Given the description of an element on the screen output the (x, y) to click on. 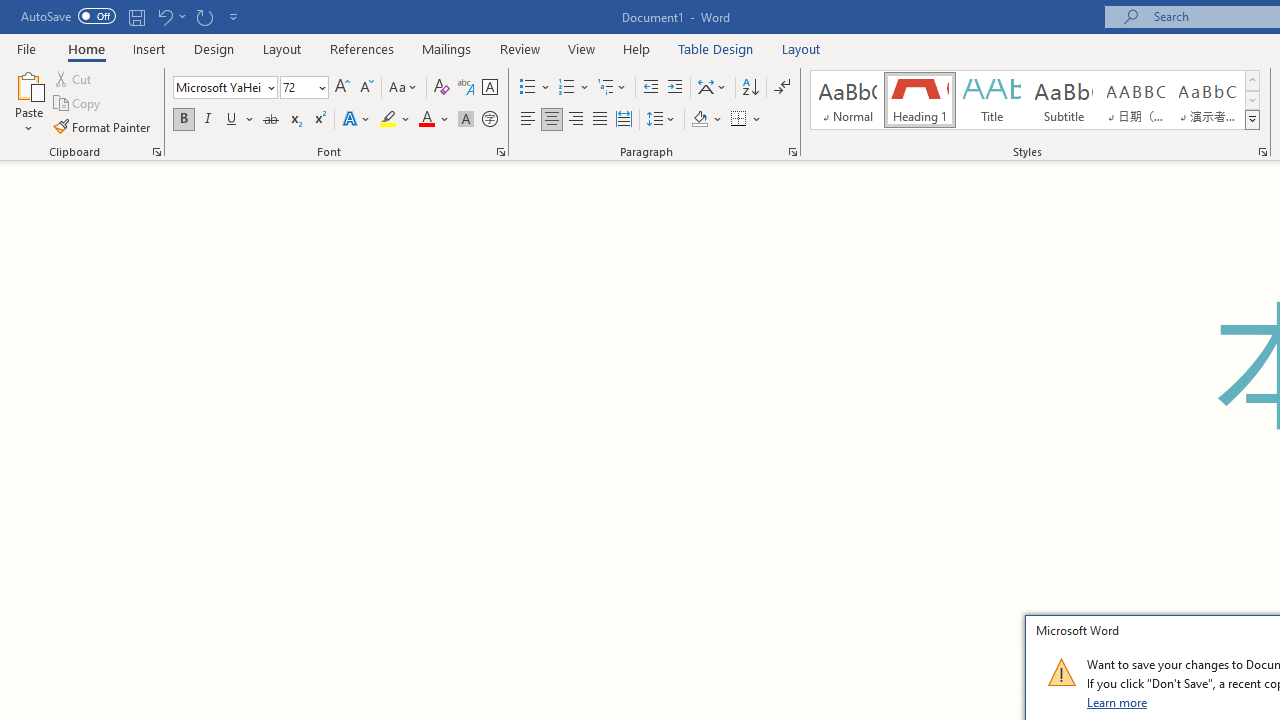
AutomationID: QuickStylesGallery (1035, 99)
